Given the description of an element on the screen output the (x, y) to click on. 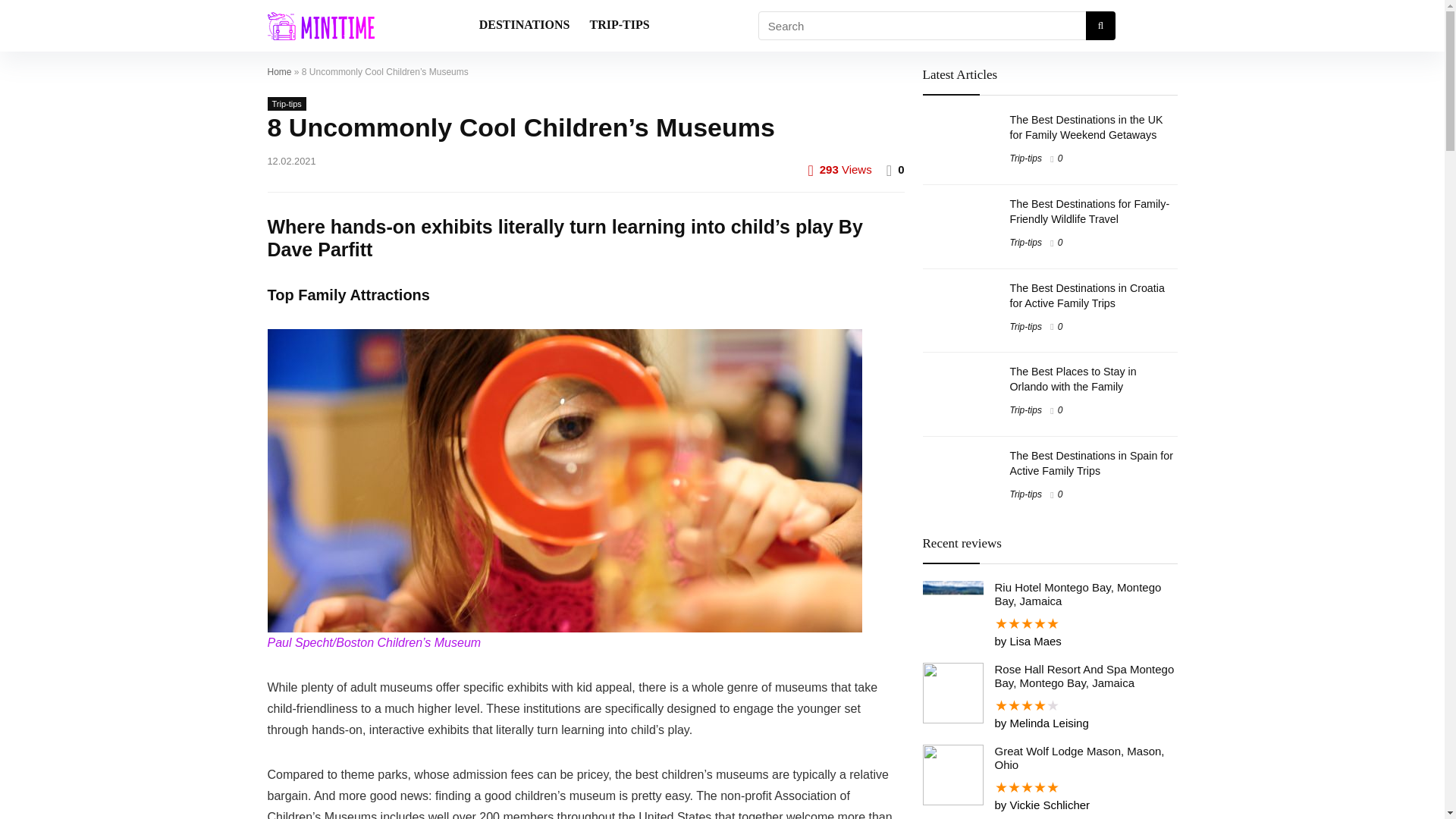
Rated 5 out of 5 (1048, 623)
Trip-tips (285, 103)
DESTINATIONS (523, 25)
Trip-tips (1026, 242)
Trip-tips (1026, 409)
Rated 5 out of 5 (1048, 787)
TRIP-TIPS (619, 25)
The Best Places to Stay in Orlando with the Family (1073, 379)
Rated 4 out of 5 (1048, 705)
The Best Destinations in the UK for Family Weekend Getaways (1086, 126)
